Given the description of an element on the screen output the (x, y) to click on. 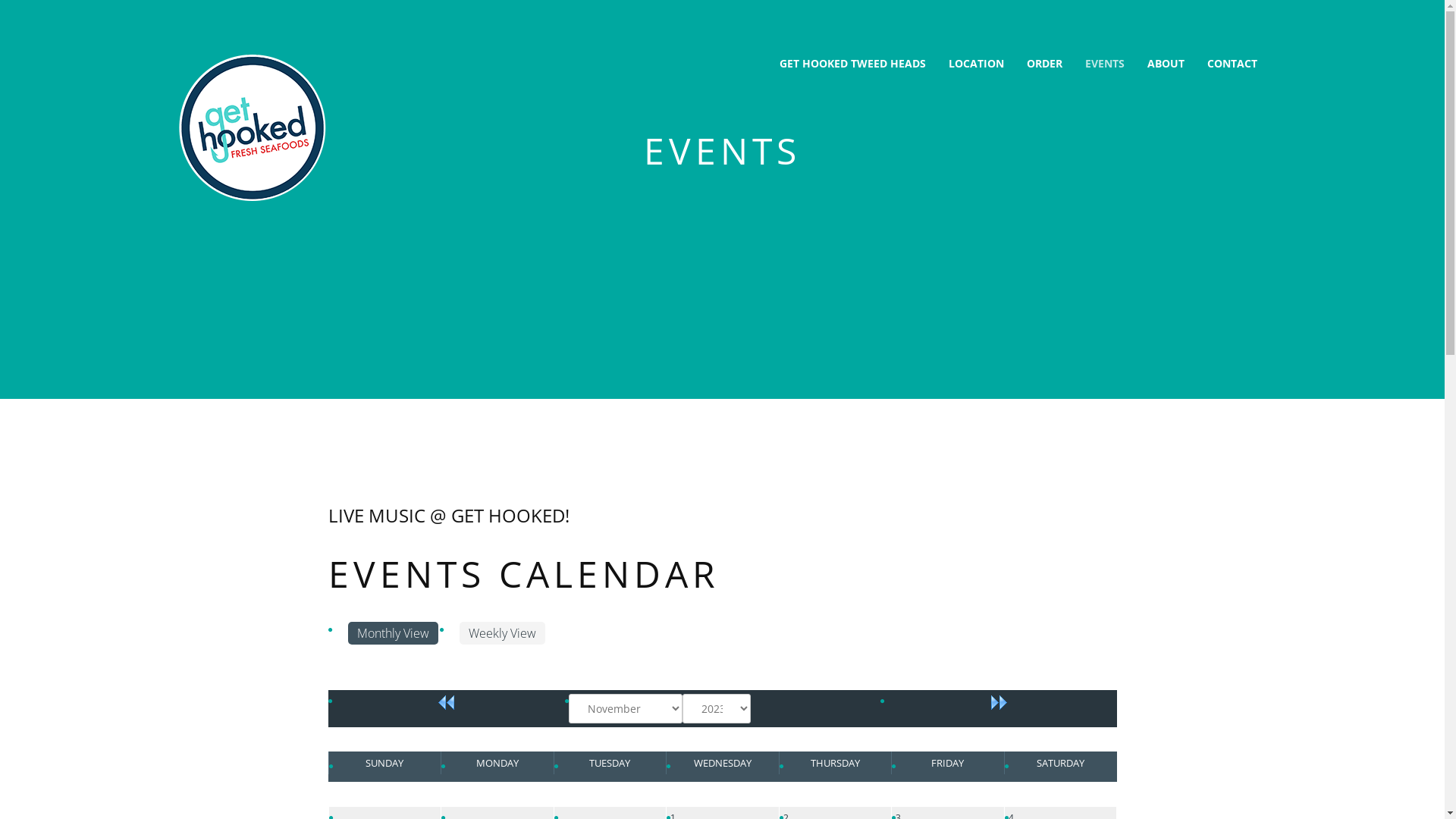
EVENTS Element type: text (1104, 63)
ABOUT Element type: text (1165, 63)
CONTACT Element type: text (1231, 63)
ORDER Element type: text (1043, 63)
Weekly View Element type: text (502, 632)
GET HOOKED TWEED HEADS Element type: text (851, 63)
LOCATION Element type: text (976, 63)
Monthly View Element type: text (392, 632)
